Given the description of an element on the screen output the (x, y) to click on. 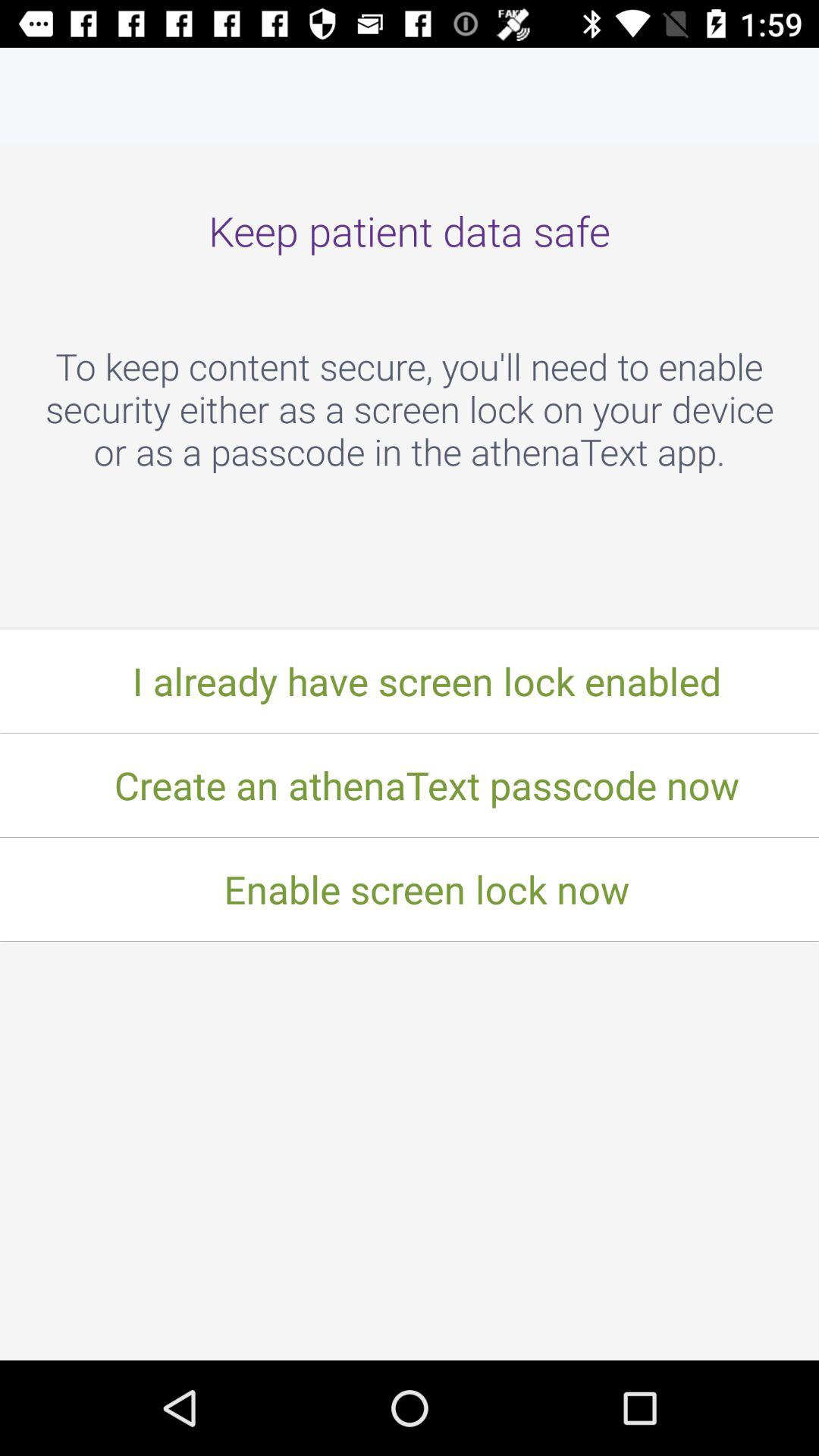
click the i already have item (409, 681)
